Given the description of an element on the screen output the (x, y) to click on. 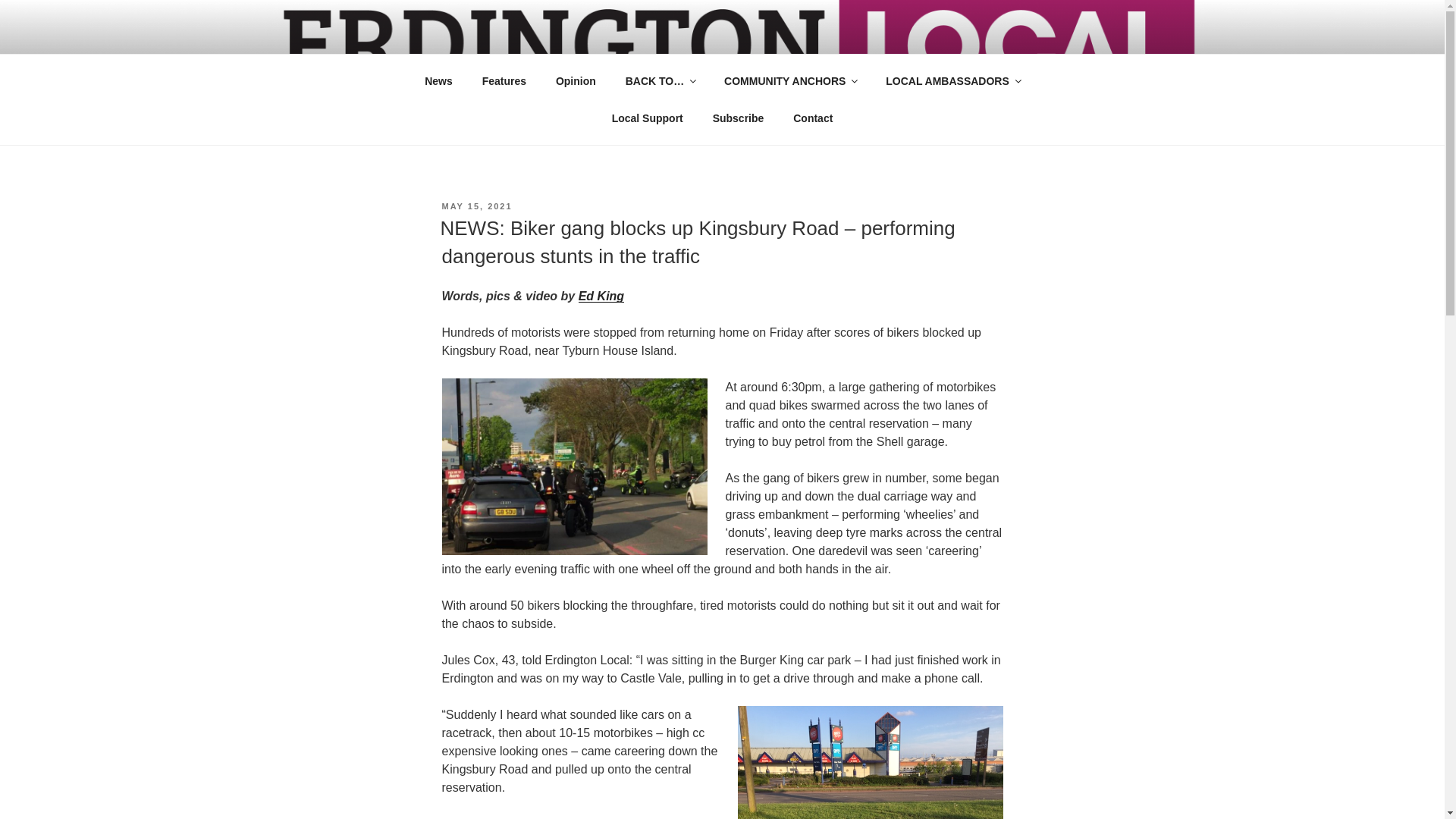
News (438, 80)
Subscribe (737, 118)
Ed King (601, 295)
Opinion (574, 80)
Local Support (646, 118)
COMMUNITY ANCHORS (790, 80)
Features (503, 80)
Contact (812, 118)
LOCAL AMBASSADORS (952, 80)
MAY 15, 2021 (476, 205)
